Given the description of an element on the screen output the (x, y) to click on. 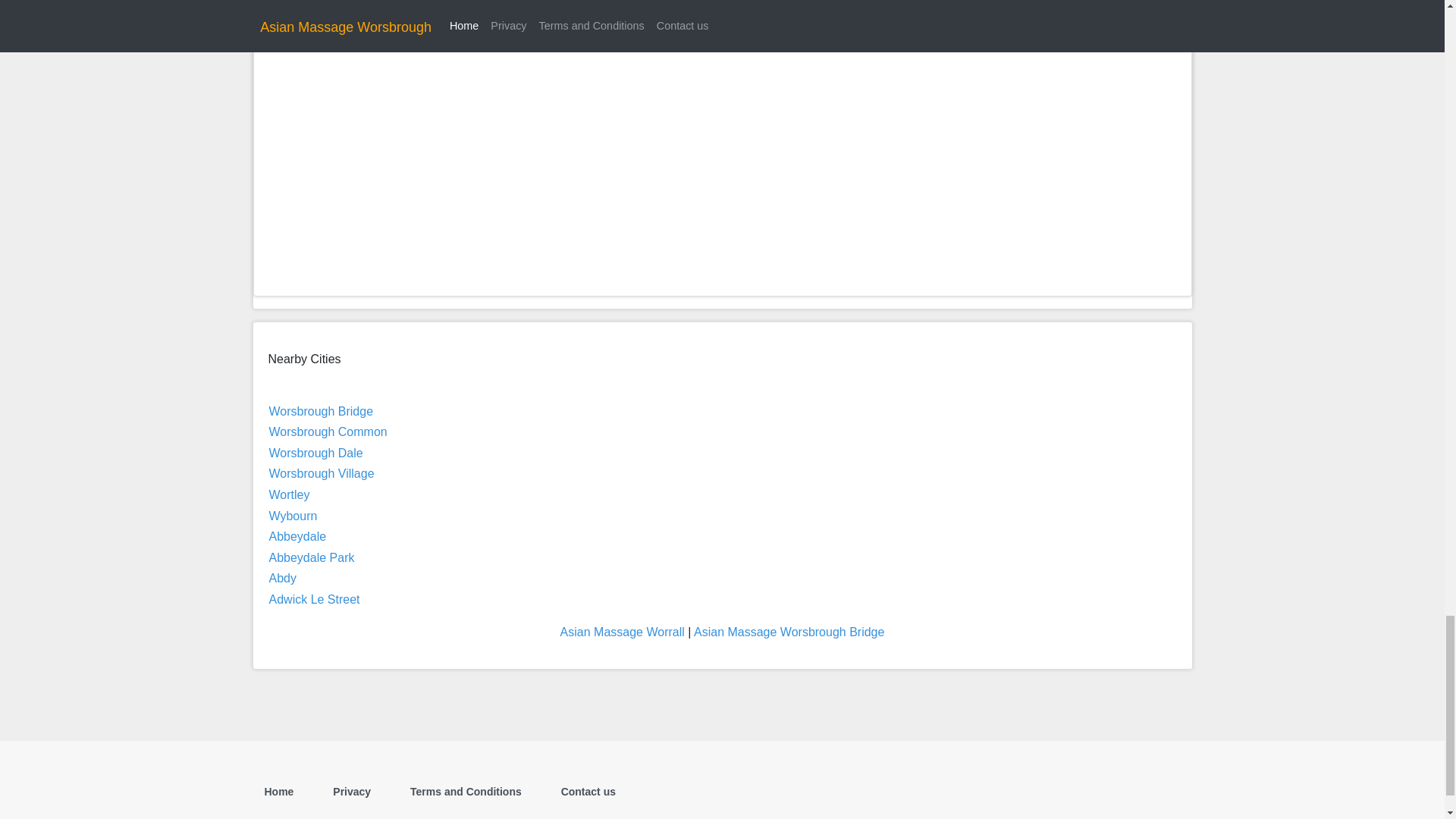
Abbeydale Park (310, 557)
Wybourn (292, 515)
Abdy (281, 577)
Worsbrough Dale (314, 452)
Asian Massage Worsbrough Bridge (788, 631)
Worsbrough Common (327, 431)
Worsbrough Village (320, 472)
Worsbrough Bridge (319, 410)
Adwick Le Street (313, 599)
Asian Massage Worrall (622, 631)
Wortley (287, 494)
Abbeydale (296, 535)
